Given the description of an element on the screen output the (x, y) to click on. 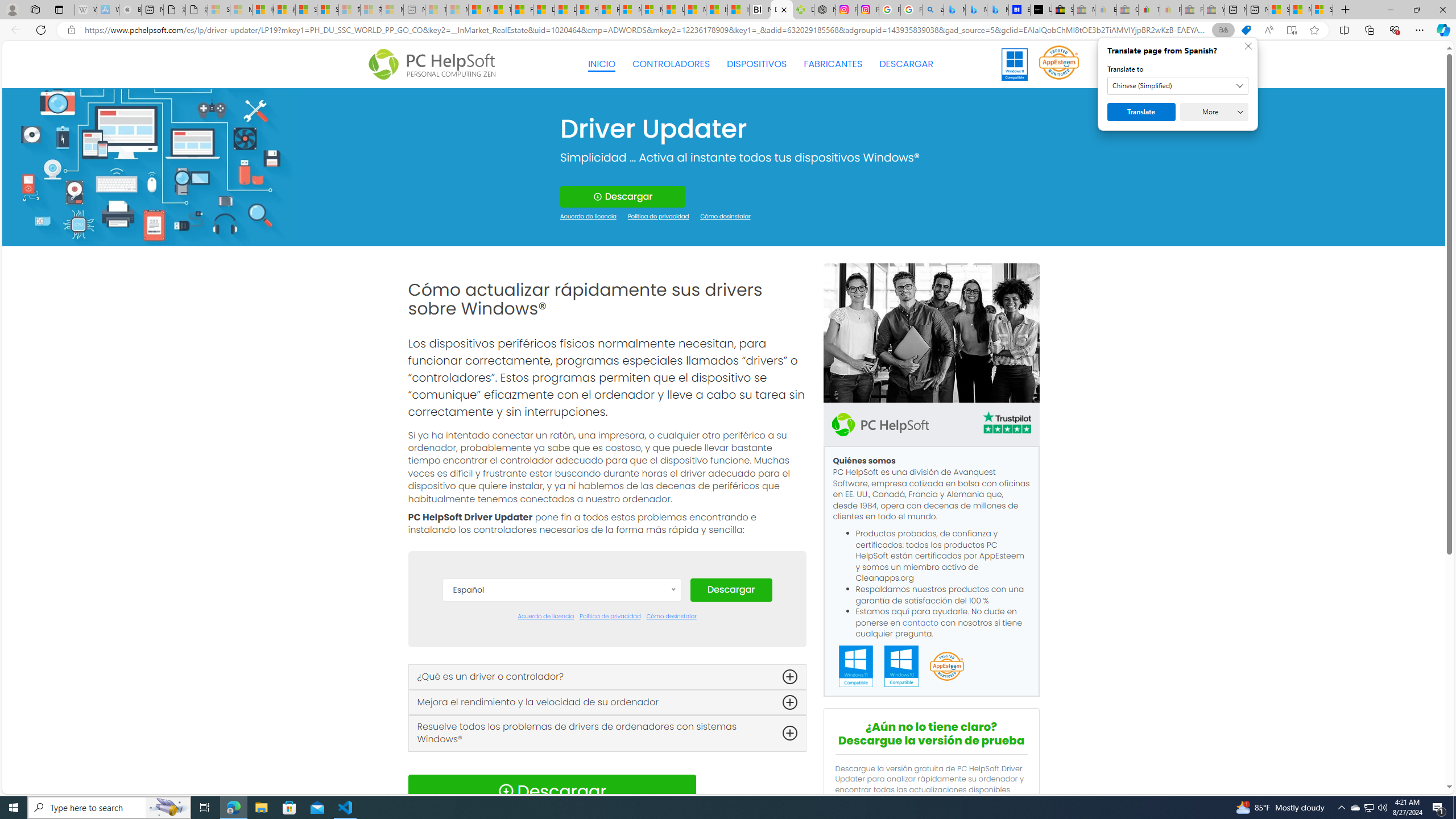
Generic (150, 166)
Microsoft Bing Travel - Flights from Hong Kong to Bangkok (954, 9)
Descarga Driver Updater (802, 9)
CONTROLADORES (670, 64)
App Esteem (945, 666)
Windows 11 Compatible (855, 666)
INICIO (601, 64)
New tab - Sleeping (413, 9)
Download Icon Descargar (551, 790)
PCHelpsoft (879, 423)
